Given the description of an element on the screen output the (x, y) to click on. 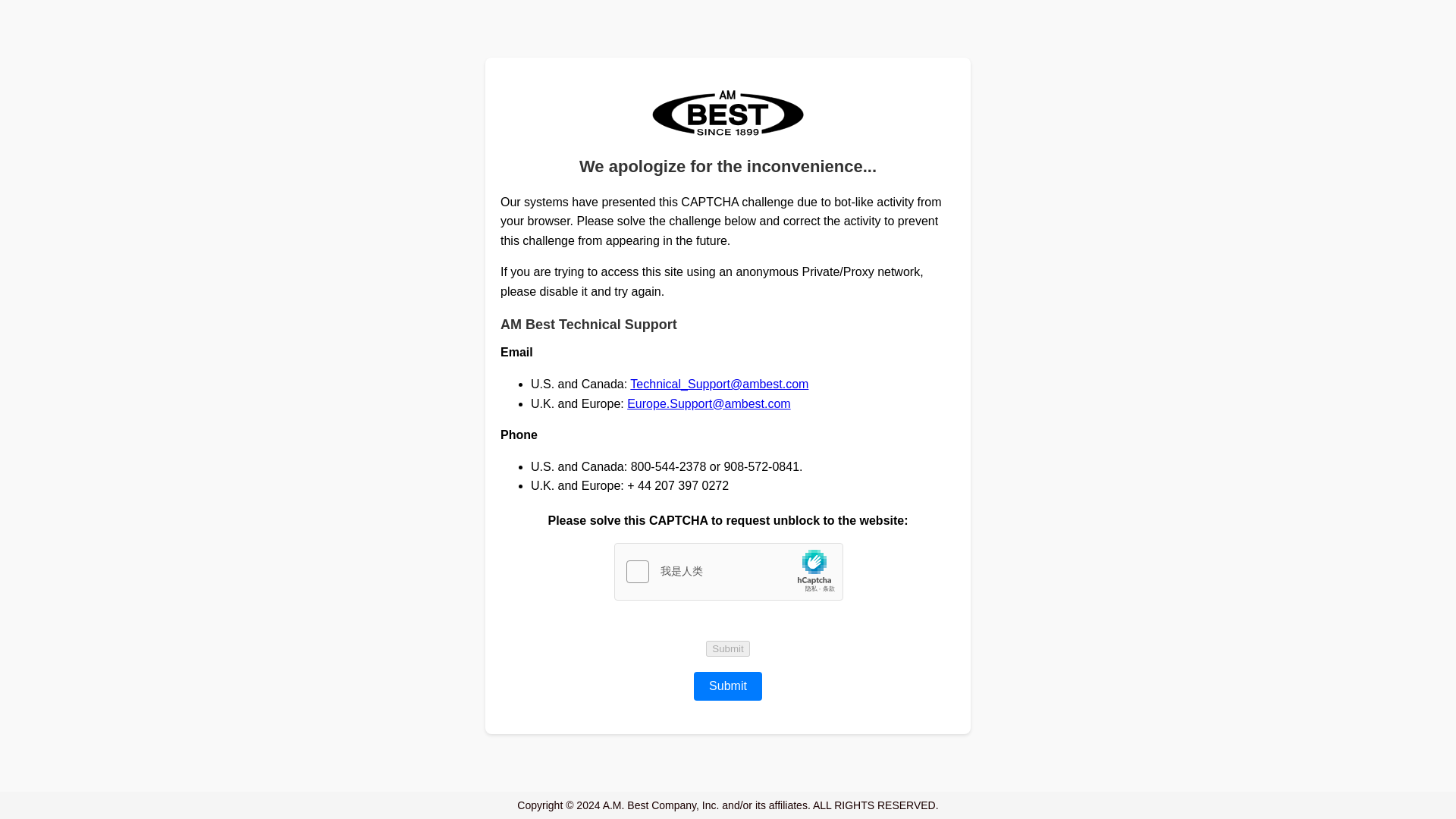
Submit (727, 648)
Submit (727, 648)
Submit (727, 686)
